Given the description of an element on the screen output the (x, y) to click on. 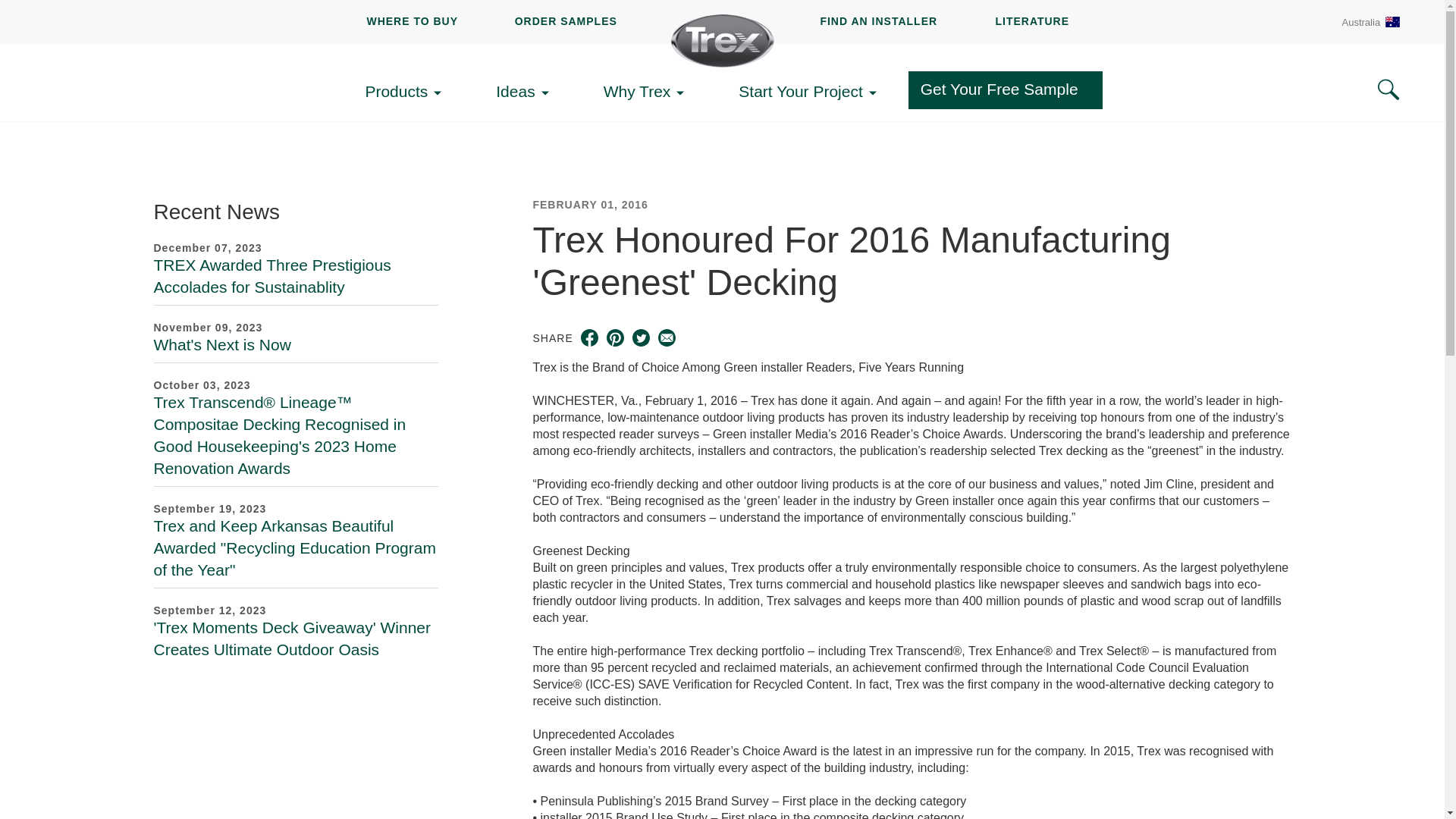
LITERATURE (1031, 21)
Products (407, 92)
FIND AN INSTALLER (878, 21)
Start Your Project (811, 92)
Ideas (526, 92)
Why Trex (649, 92)
ORDER SAMPLES (566, 21)
WHERE TO BUY (412, 21)
